Given the description of an element on the screen output the (x, y) to click on. 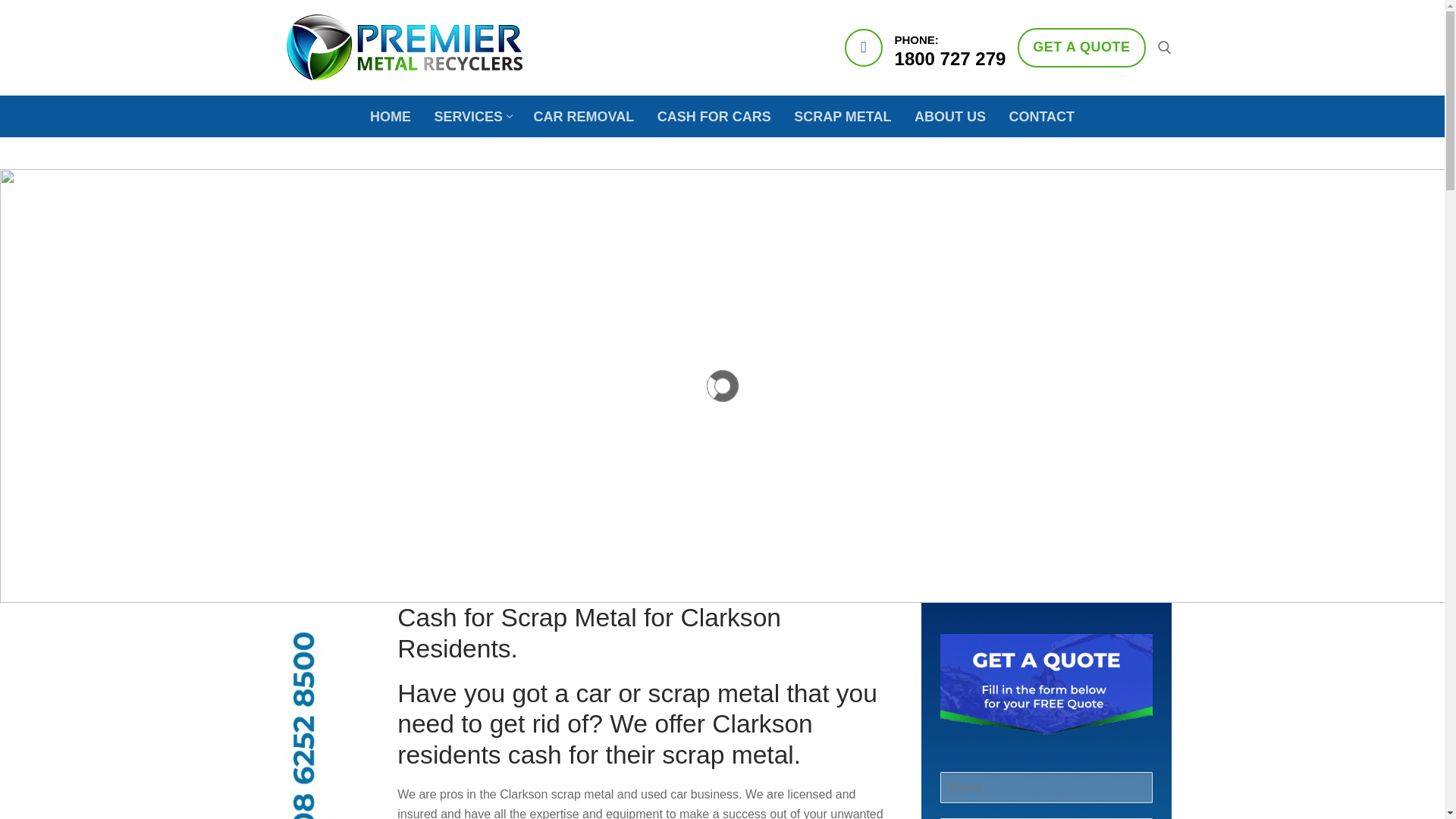
SCRAP METAL (471, 115)
HOME (842, 115)
ABOUT US (389, 115)
CONTACT (949, 115)
GET A QUOTE (1041, 115)
CASH FOR CARS (1080, 47)
CAR REMOVAL (713, 115)
